Given the description of an element on the screen output the (x, y) to click on. 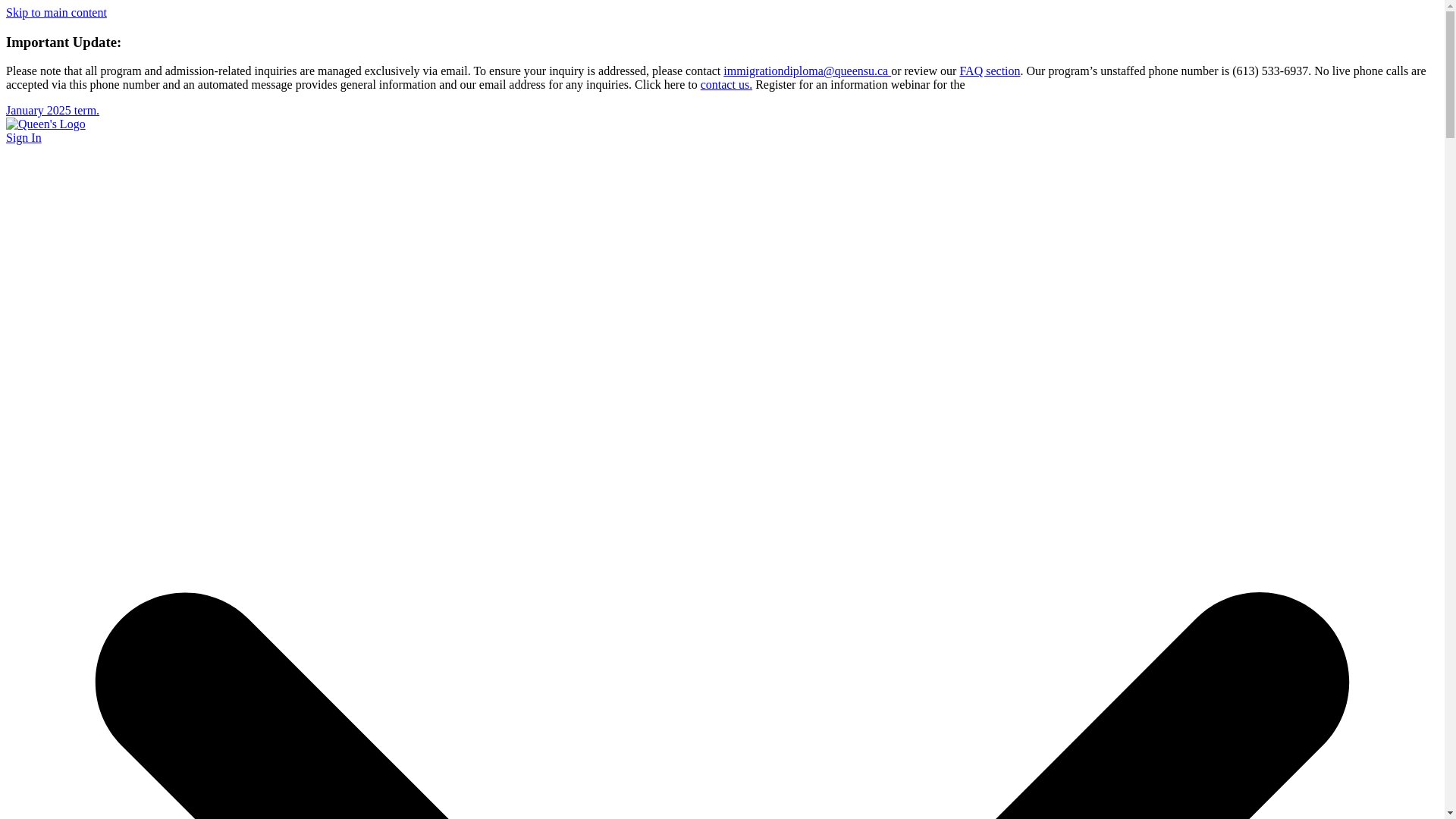
Skip to main content (55, 11)
FAQ section (989, 70)
contact us. (726, 83)
January 2025 term. (52, 110)
